Given the description of an element on the screen output the (x, y) to click on. 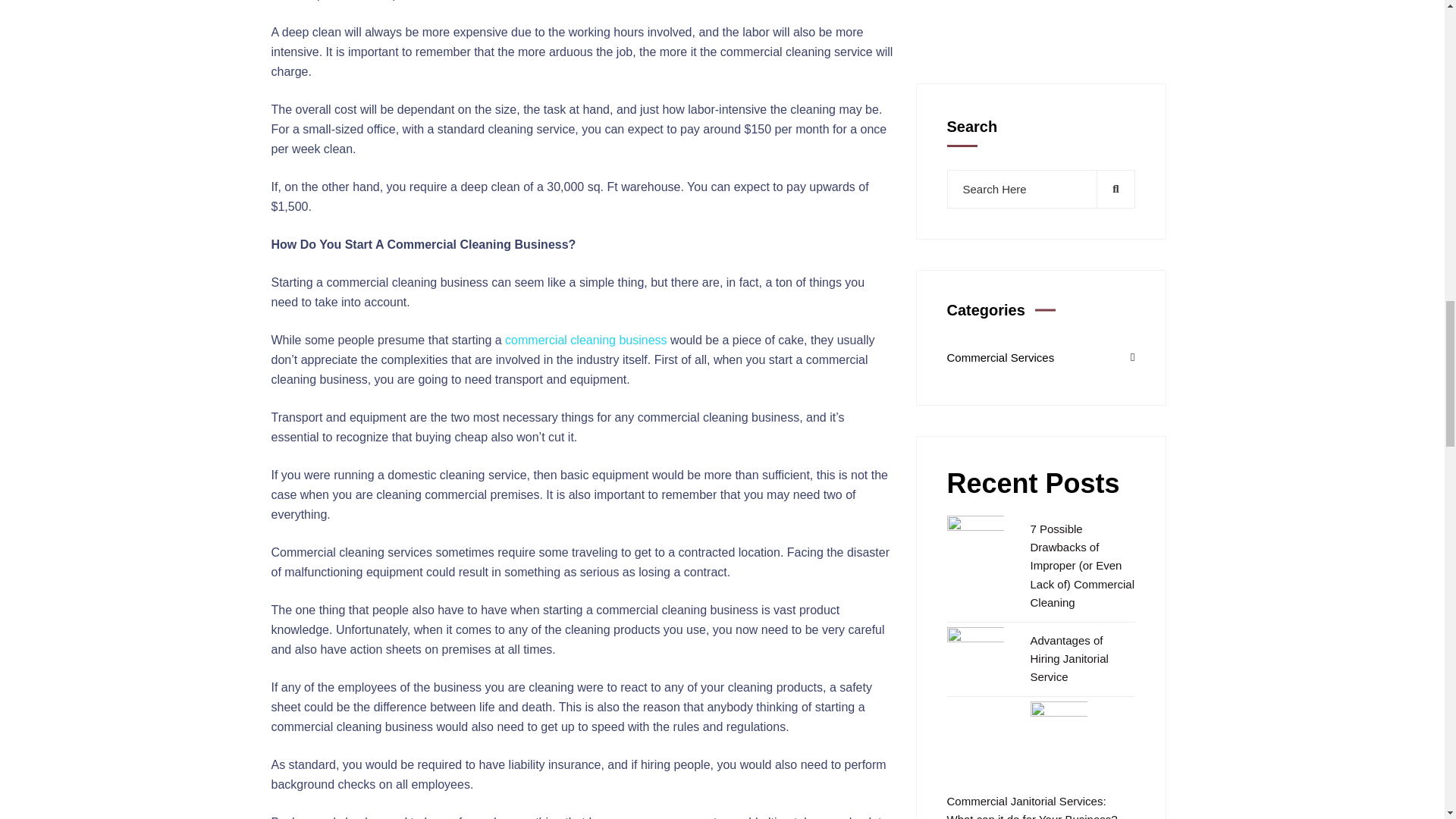
commercial cleaning business (585, 339)
